Given the description of an element on the screen output the (x, y) to click on. 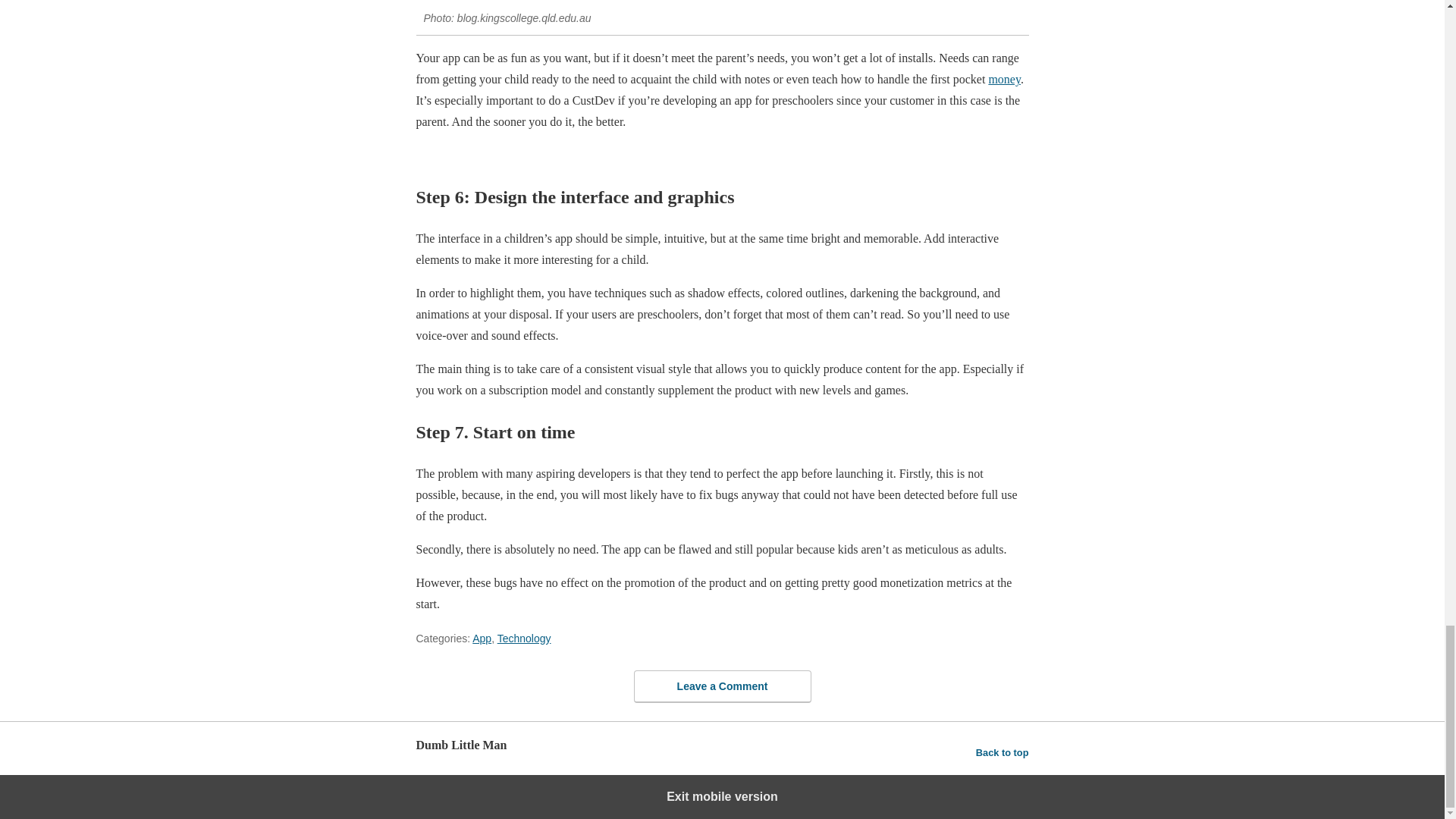
Leave a Comment (721, 686)
Technology (524, 638)
money (1004, 78)
Back to top (1002, 752)
App (481, 638)
